Given the description of an element on the screen output the (x, y) to click on. 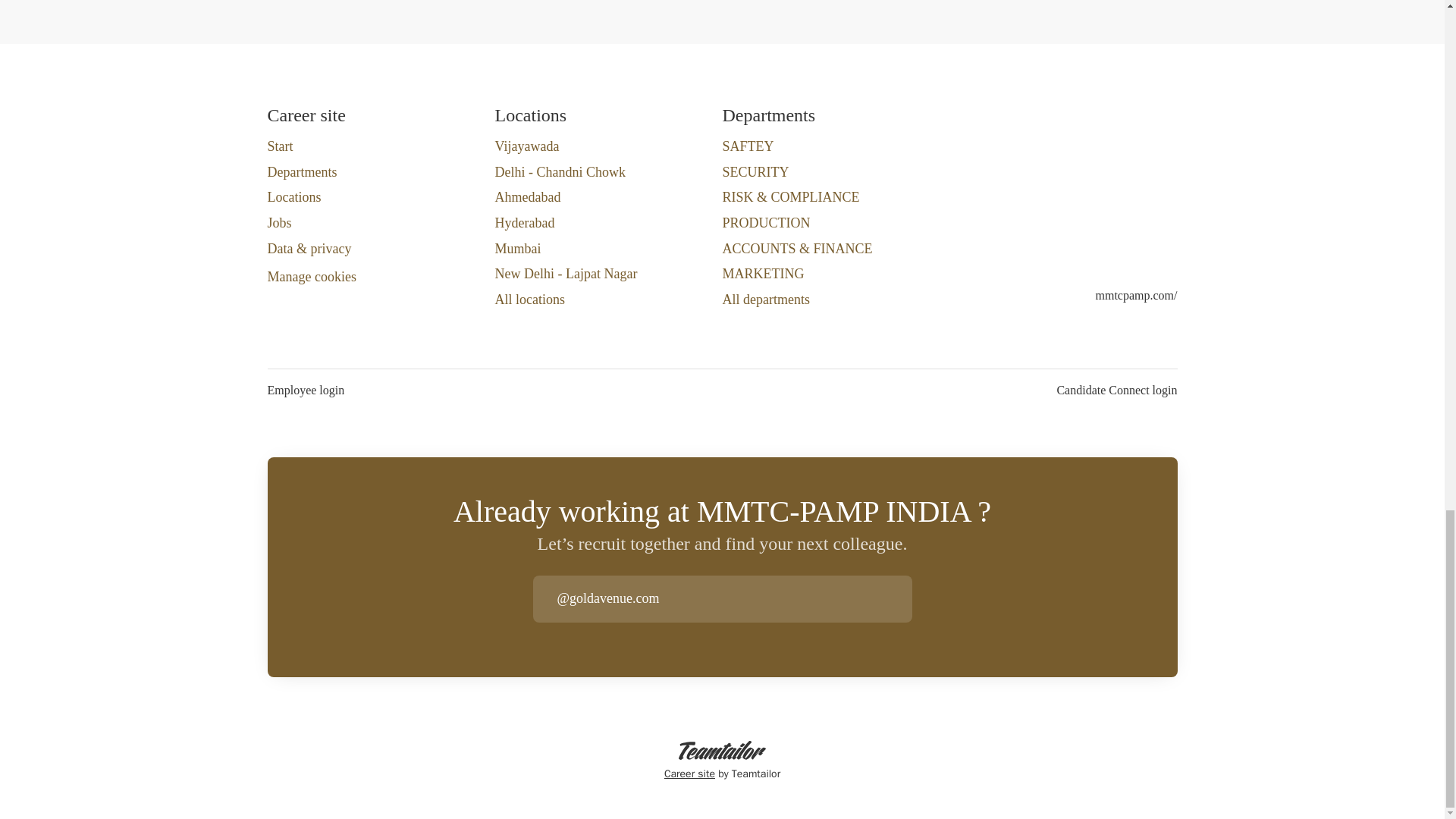
Delhi - Chandni Chowk (560, 171)
All locations (529, 299)
Vijayawada (527, 146)
Mumbai (517, 248)
Hyderabad (524, 222)
SECURITY (755, 171)
Ahmedabad (527, 197)
Start (279, 146)
Jobs (278, 222)
Log in (899, 598)
Manage cookies (310, 277)
Departments (301, 171)
SAFTEY (747, 146)
New Delhi - Lajpat Nagar (566, 273)
Locations (293, 197)
